Given the description of an element on the screen output the (x, y) to click on. 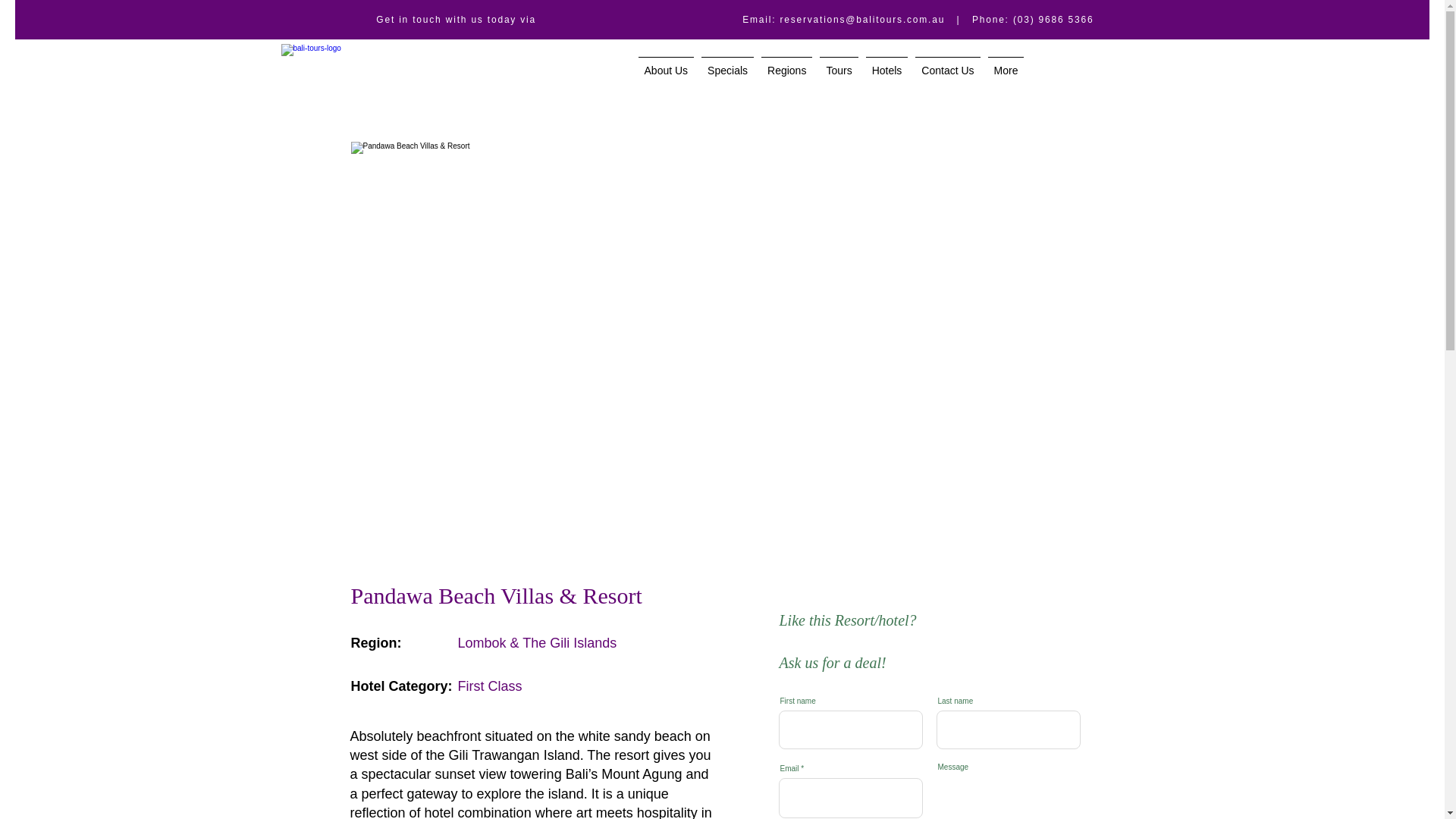
Regions (786, 75)
Tours (838, 75)
About Us (666, 75)
Contact Us (947, 75)
Specials (727, 75)
Hotels (886, 75)
